Given the description of an element on the screen output the (x, y) to click on. 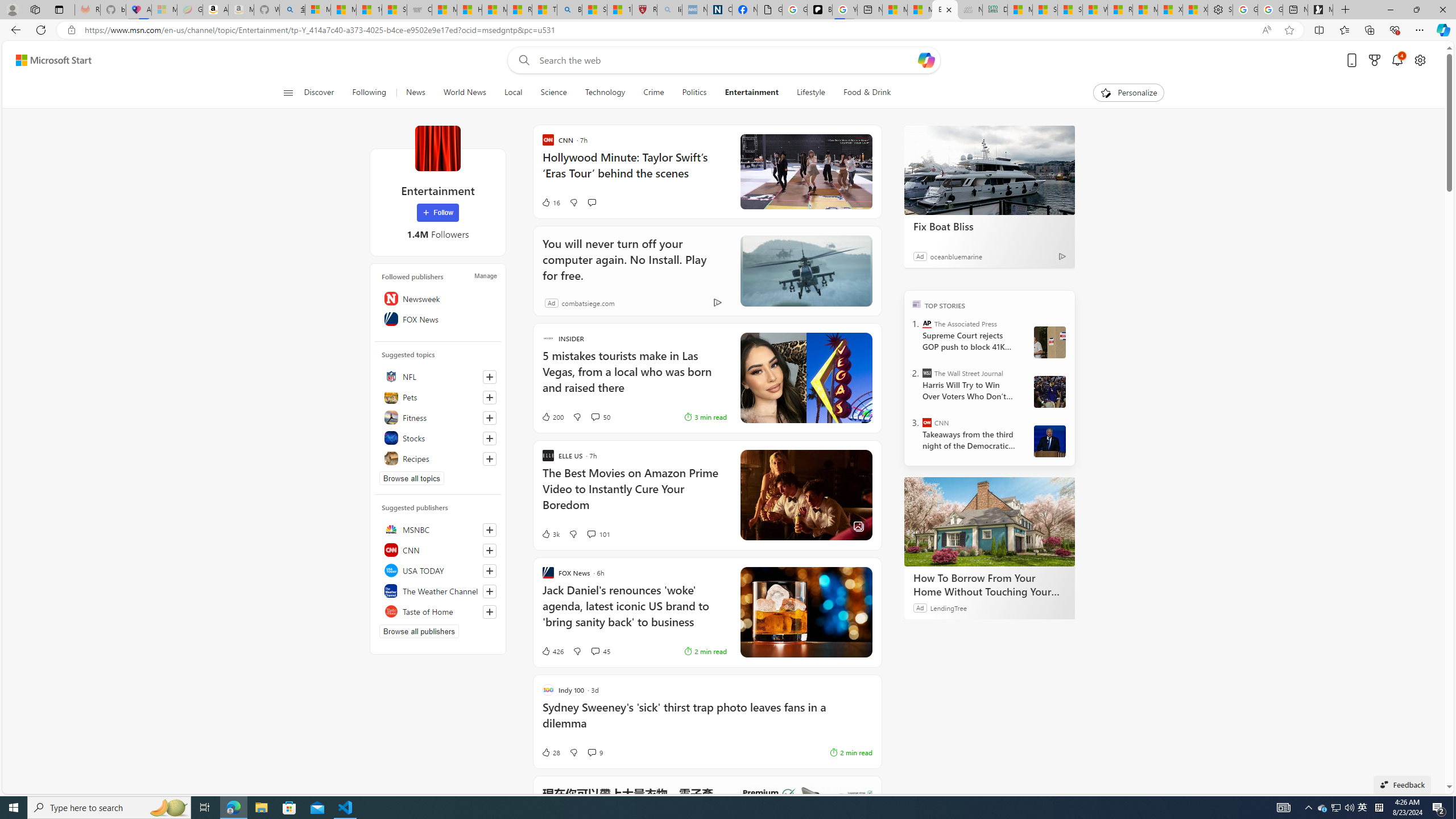
Skip to footer (46, 59)
Robert H. Shmerling, MD - Harvard Health (644, 9)
Entertainment - MSN (944, 9)
View comments 50 Comment (594, 416)
Recipes - MSN (519, 9)
Microsoft-Report a Concern to Bing - Sleeping (164, 9)
Skip to content (49, 59)
